Given the description of an element on the screen output the (x, y) to click on. 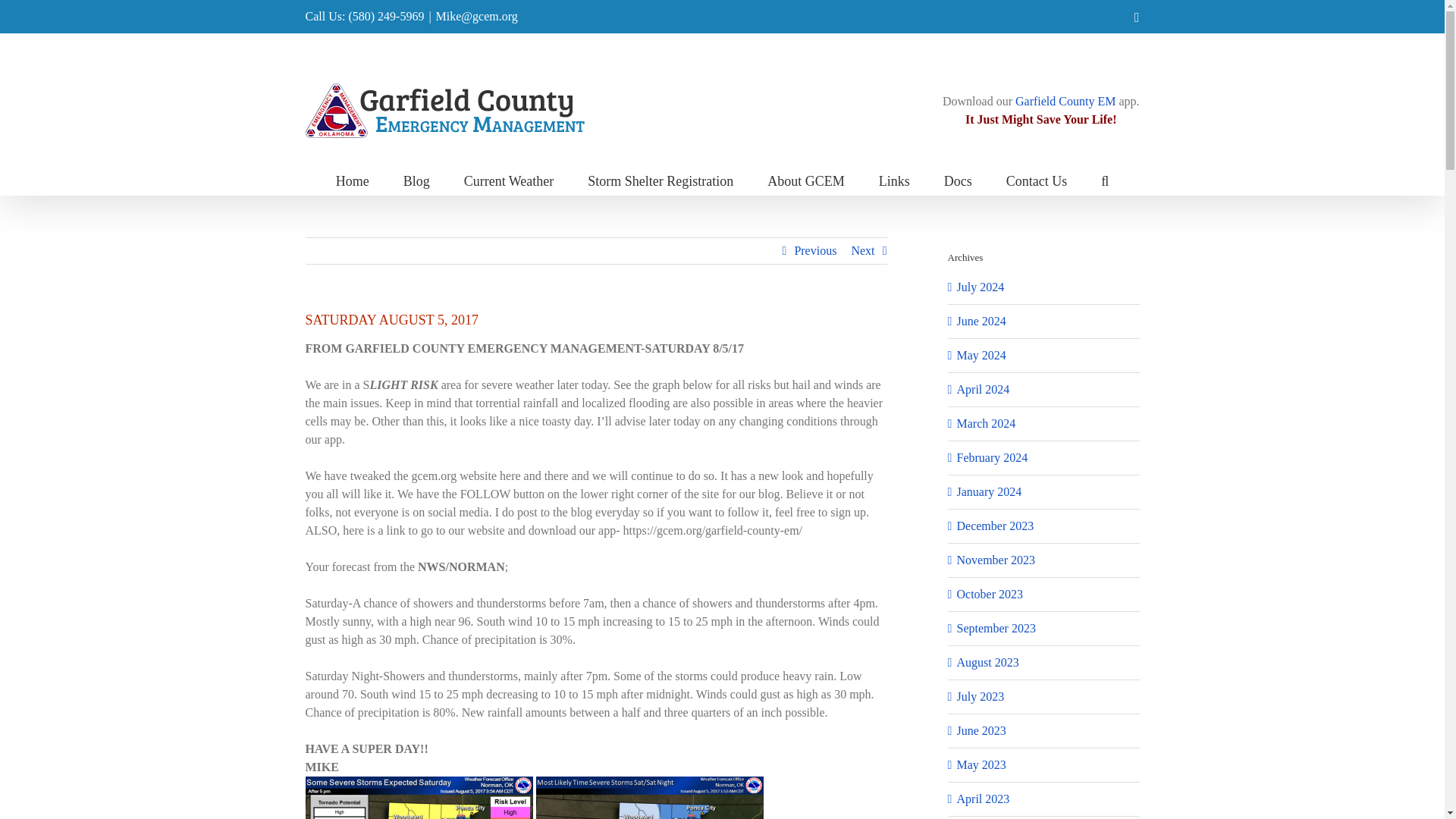
Links (894, 179)
About GCEM (805, 179)
Blog (416, 179)
Storm Shelter Registration (660, 179)
Search (1104, 179)
Facebook (1137, 17)
Docs (957, 179)
Facebook (1137, 17)
Contact Us (1036, 179)
Garfield County EM (1064, 101)
Current Weather (509, 179)
Home (352, 179)
